Given the description of an element on the screen output the (x, y) to click on. 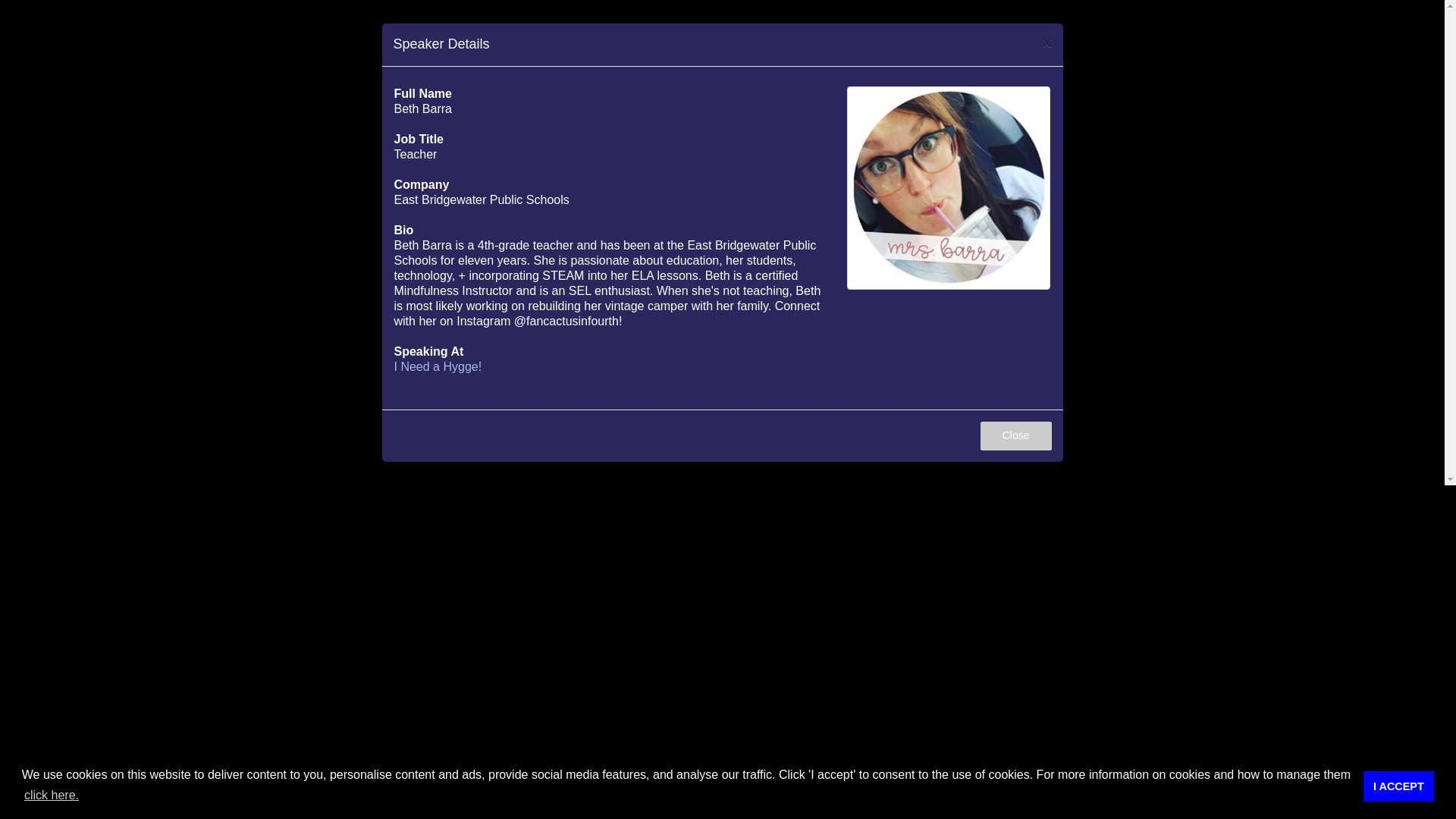
Close (1015, 435)
Session Details (437, 366)
I Need a Hygge! (437, 366)
